Given the description of an element on the screen output the (x, y) to click on. 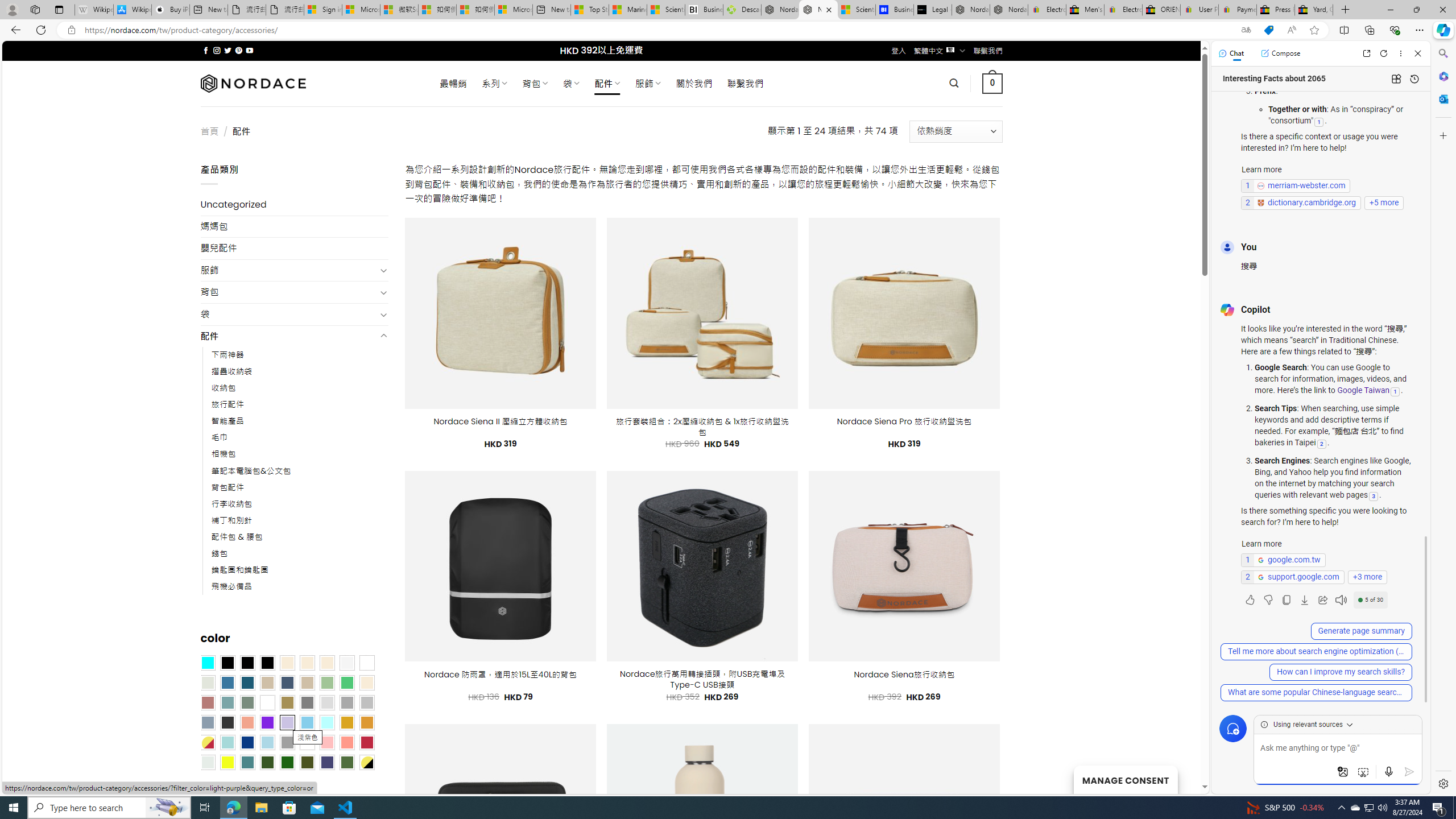
Follow on Instagram (216, 50)
User Privacy Notice | eBay (1198, 9)
